Given the description of an element on the screen output the (x, y) to click on. 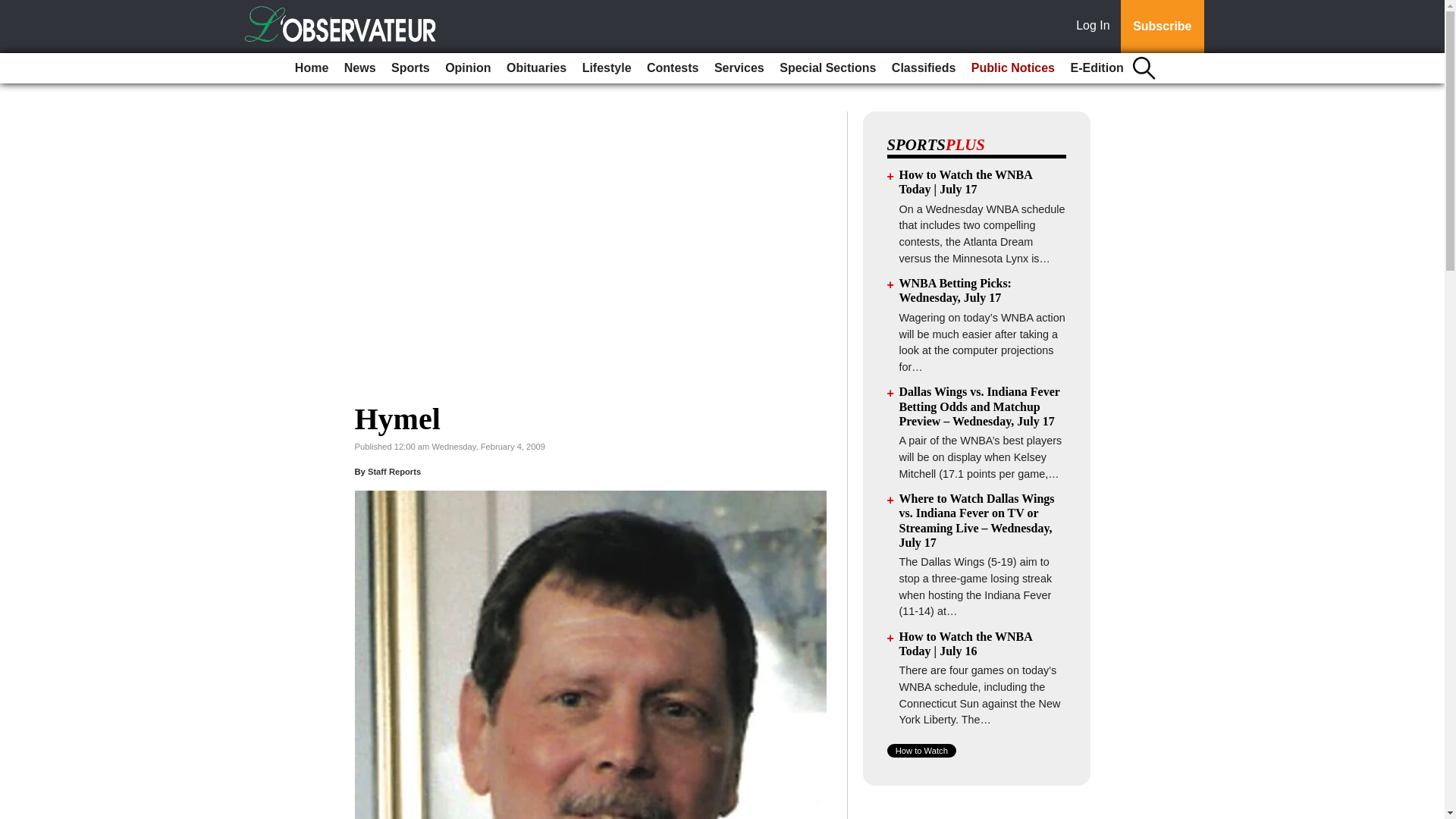
Go (13, 9)
Public Notices (1013, 68)
Obituaries (536, 68)
Subscribe (1162, 26)
Home (311, 68)
Special Sections (827, 68)
News (359, 68)
Log In (1095, 26)
Opinion (467, 68)
WNBA Betting Picks: Wednesday, July 17 (955, 289)
E-Edition (1096, 68)
Classifieds (922, 68)
Sports (410, 68)
Contests (672, 68)
Staff Reports (394, 470)
